Given the description of an element on the screen output the (x, y) to click on. 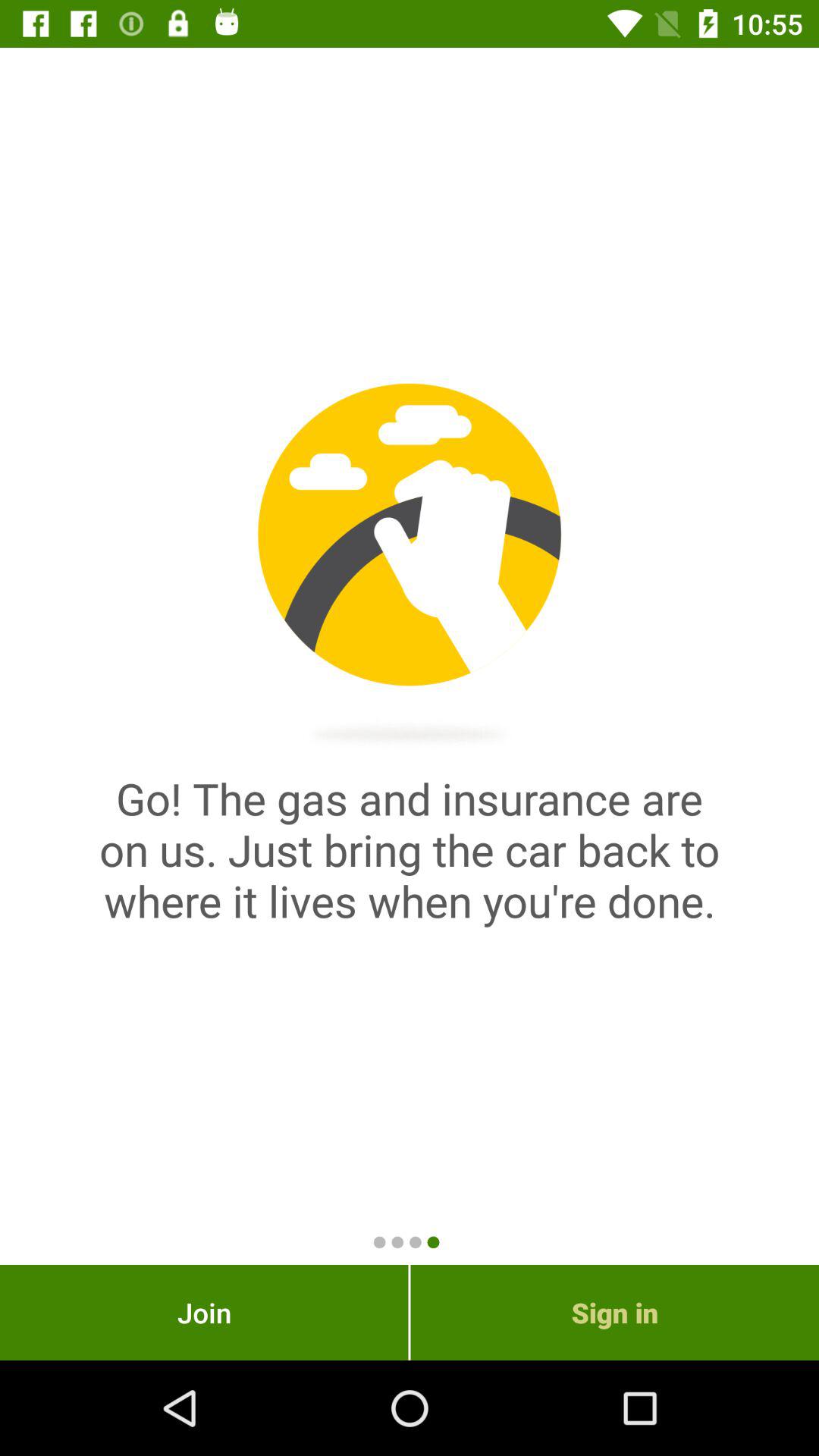
press the icon next to sign in item (204, 1312)
